Given the description of an element on the screen output the (x, y) to click on. 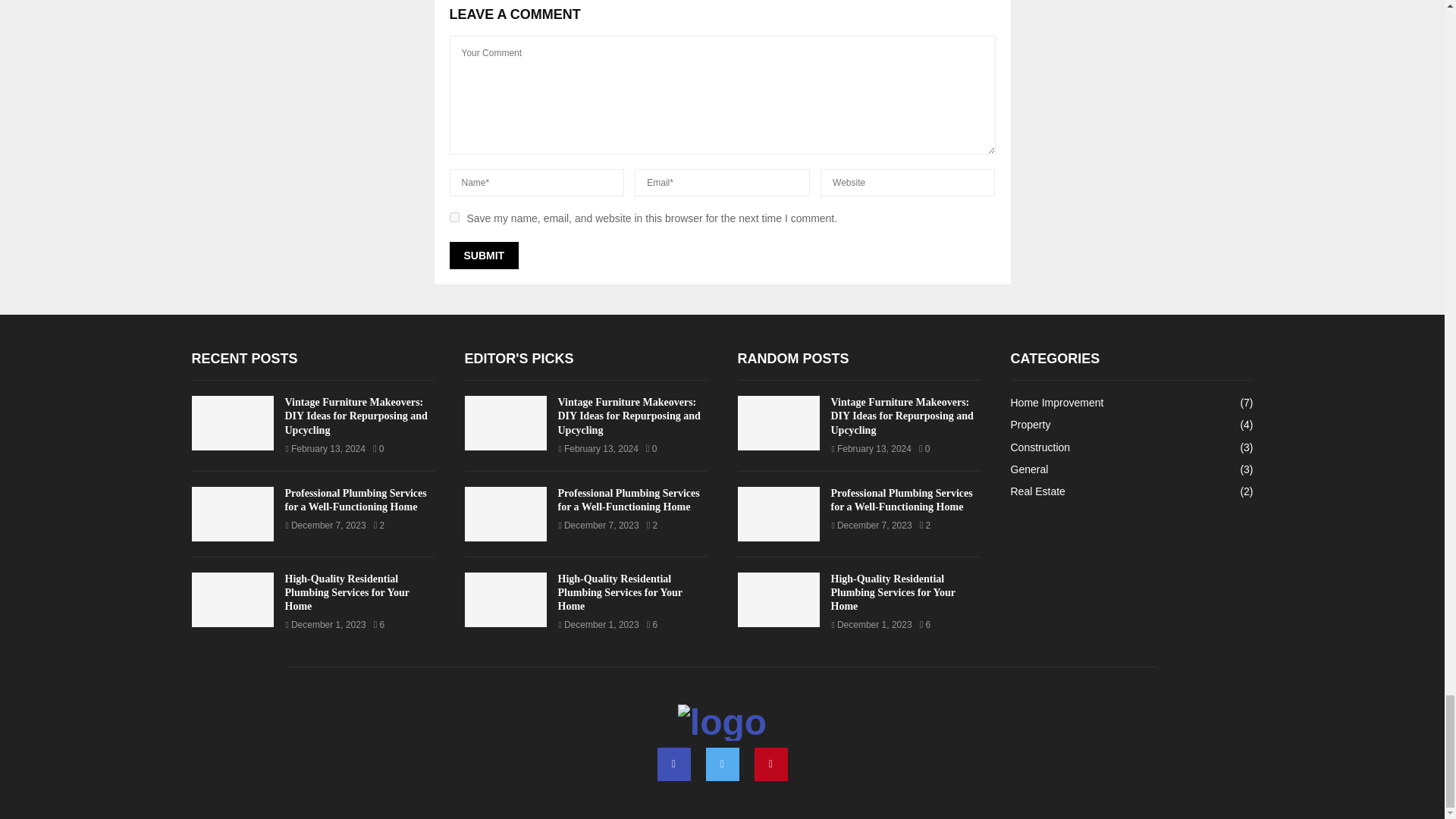
yes (453, 216)
Submit (483, 255)
